Given the description of an element on the screen output the (x, y) to click on. 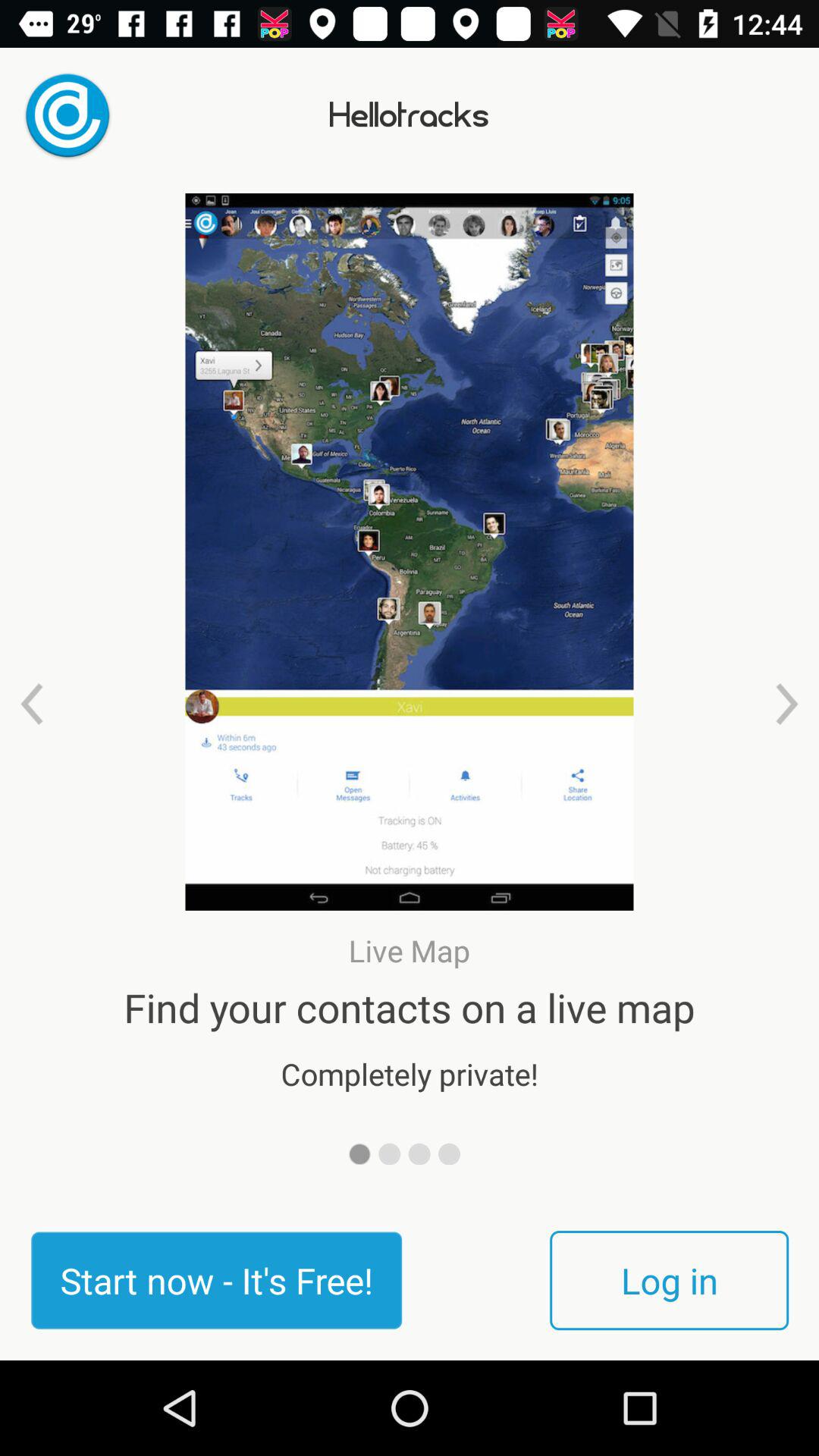
turn on the icon next to the start now it item (668, 1280)
